Given the description of an element on the screen output the (x, y) to click on. 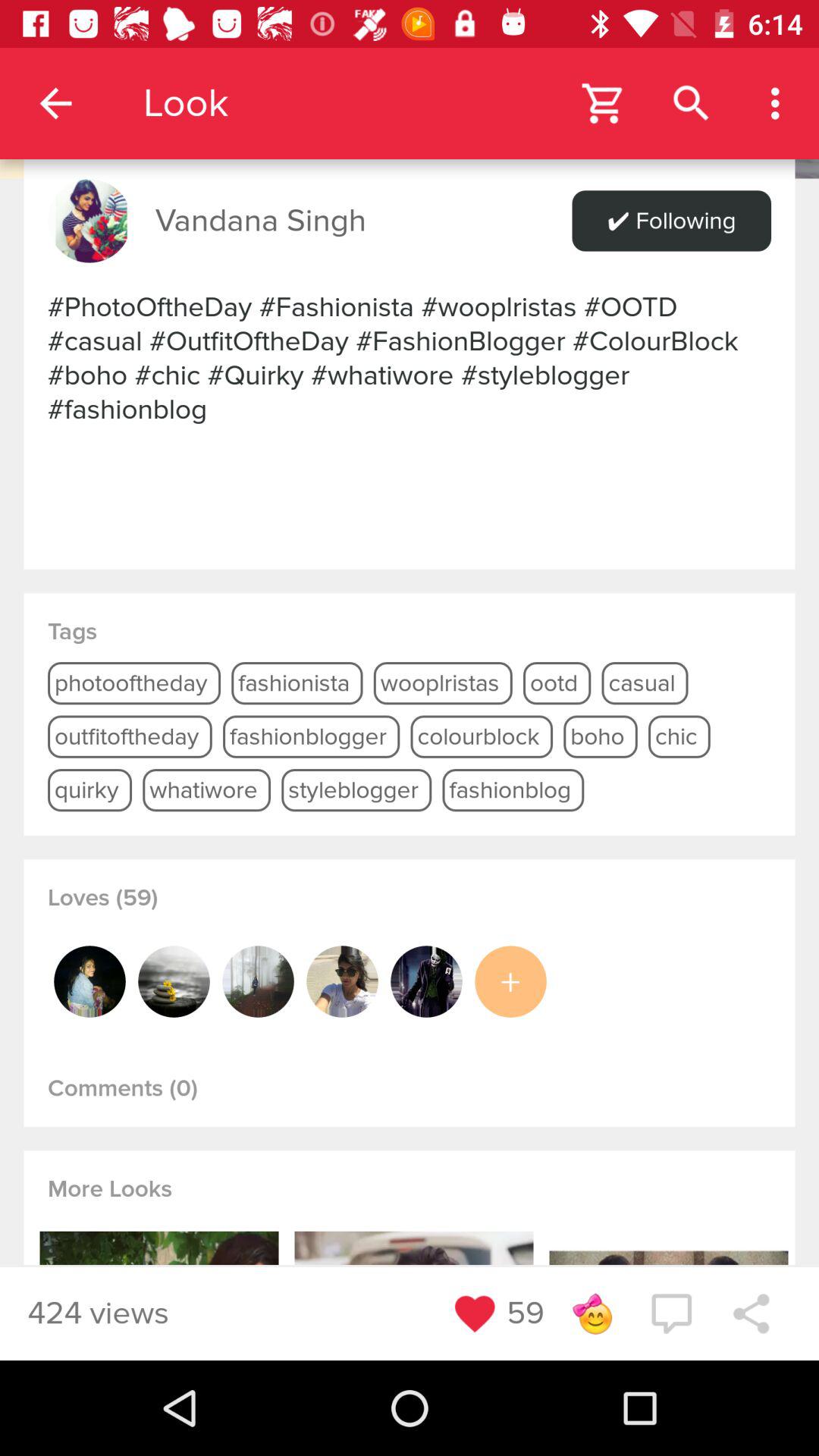
click profile (258, 981)
